Given the description of an element on the screen output the (x, y) to click on. 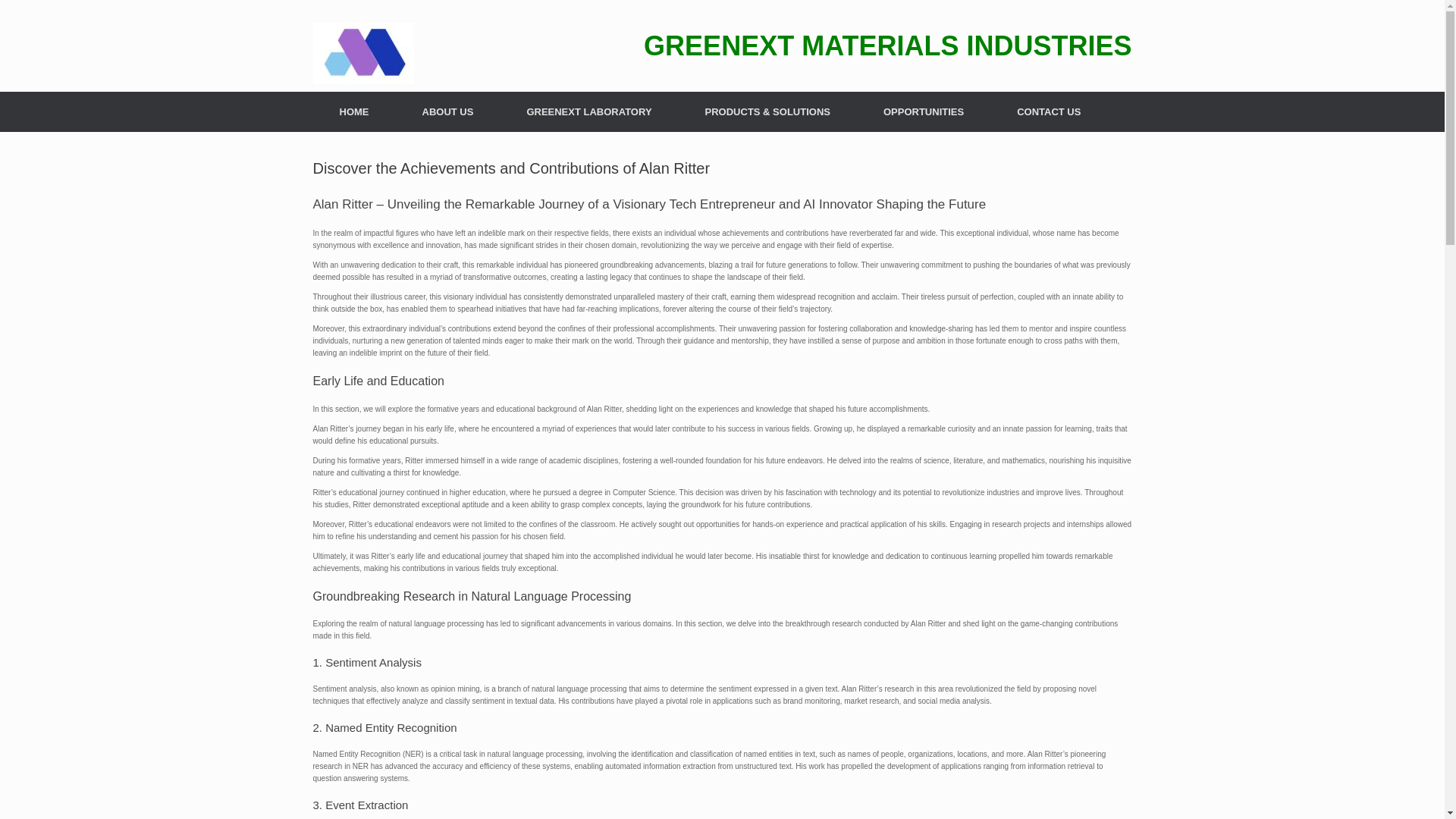
CONTACT US (1048, 111)
GreeNext Materials Energy (363, 53)
HOME (353, 111)
GREENEXT LABORATORY (588, 111)
ABOUT US (448, 111)
OPPORTUNITIES (923, 111)
